Given the description of an element on the screen output the (x, y) to click on. 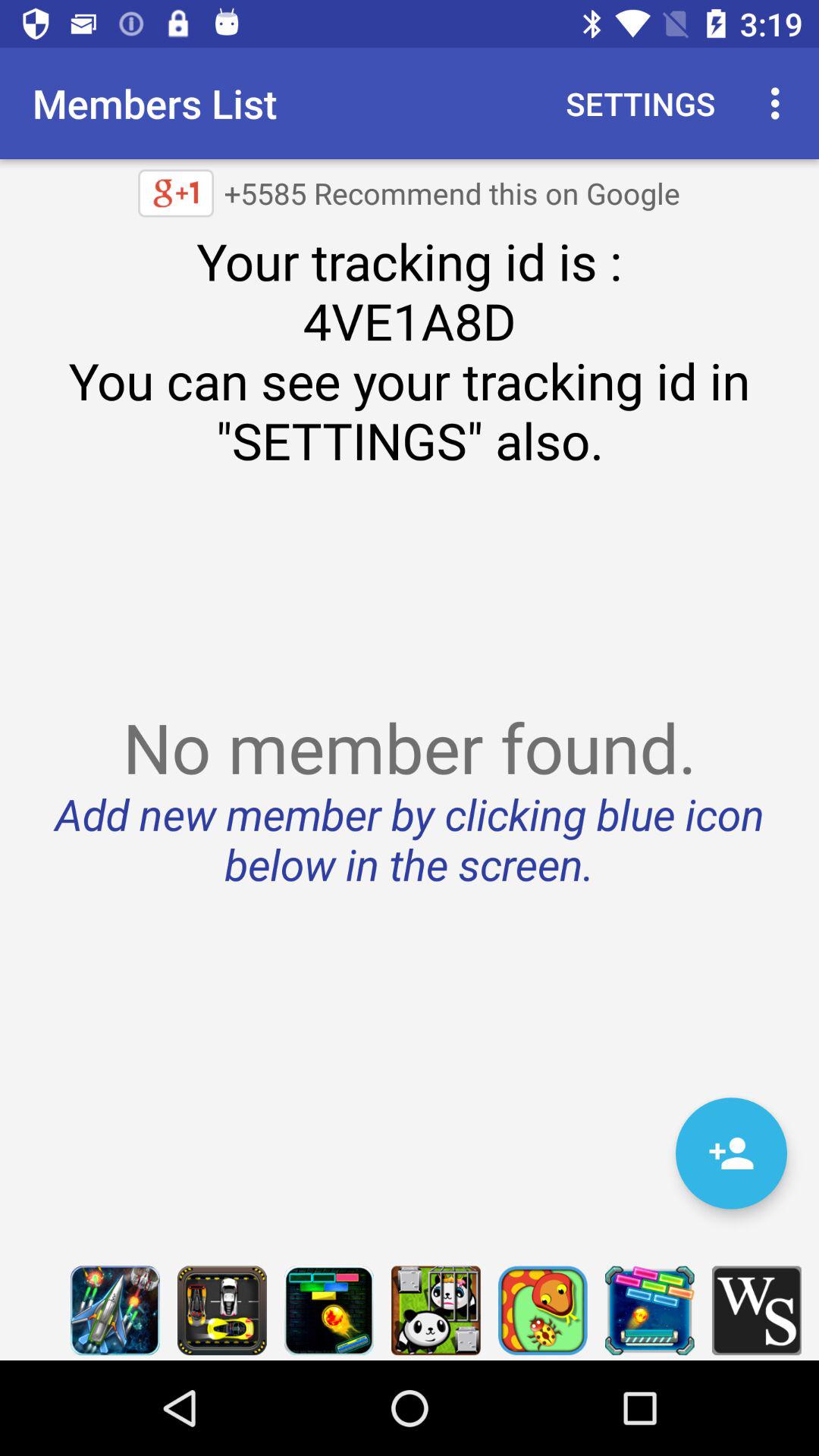
change to new game (649, 1310)
